Given the description of an element on the screen output the (x, y) to click on. 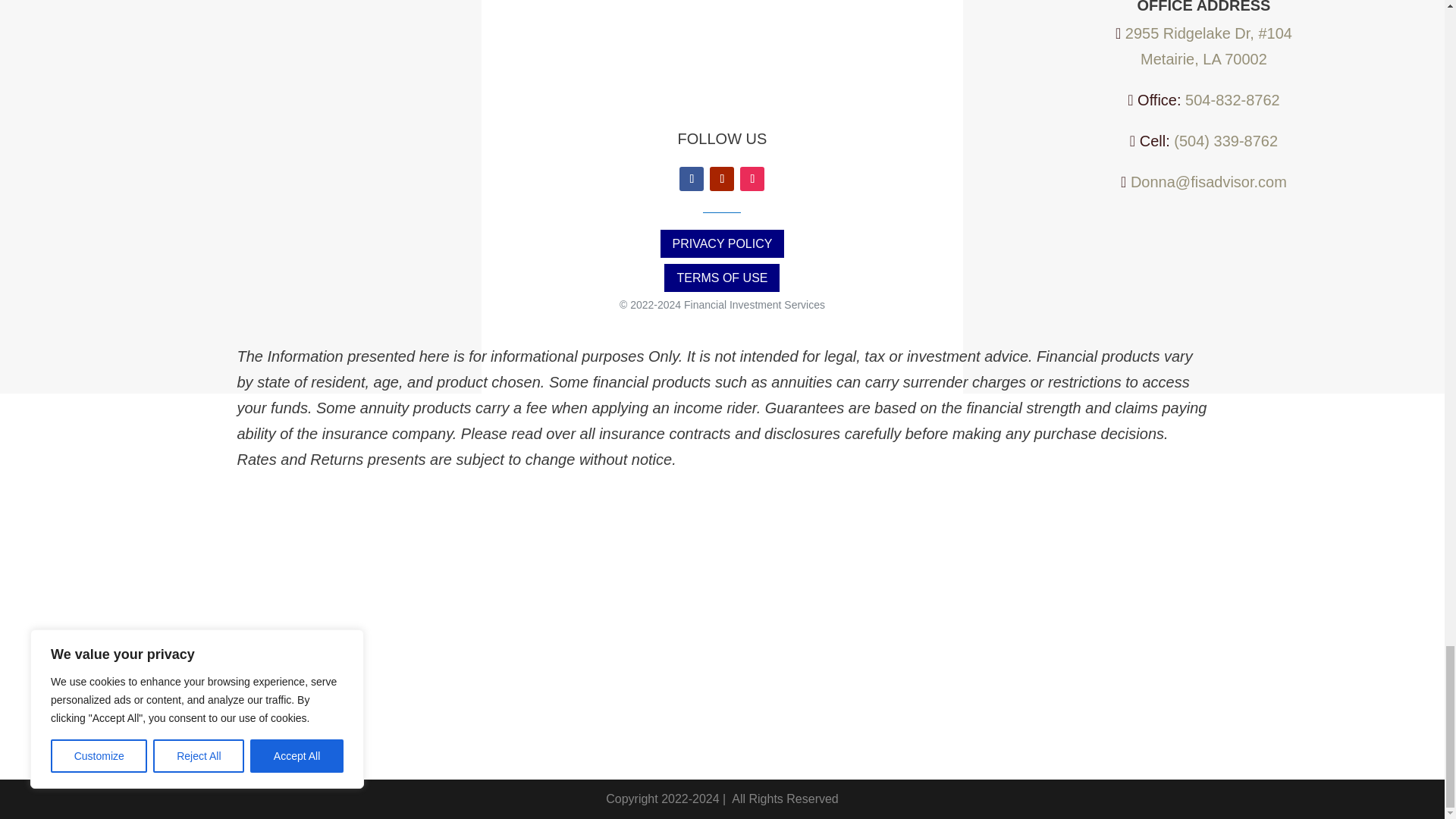
Follow on Instagram (751, 178)
Follow on Youtube (721, 178)
Follow on Facebook (691, 178)
